Given the description of an element on the screen output the (x, y) to click on. 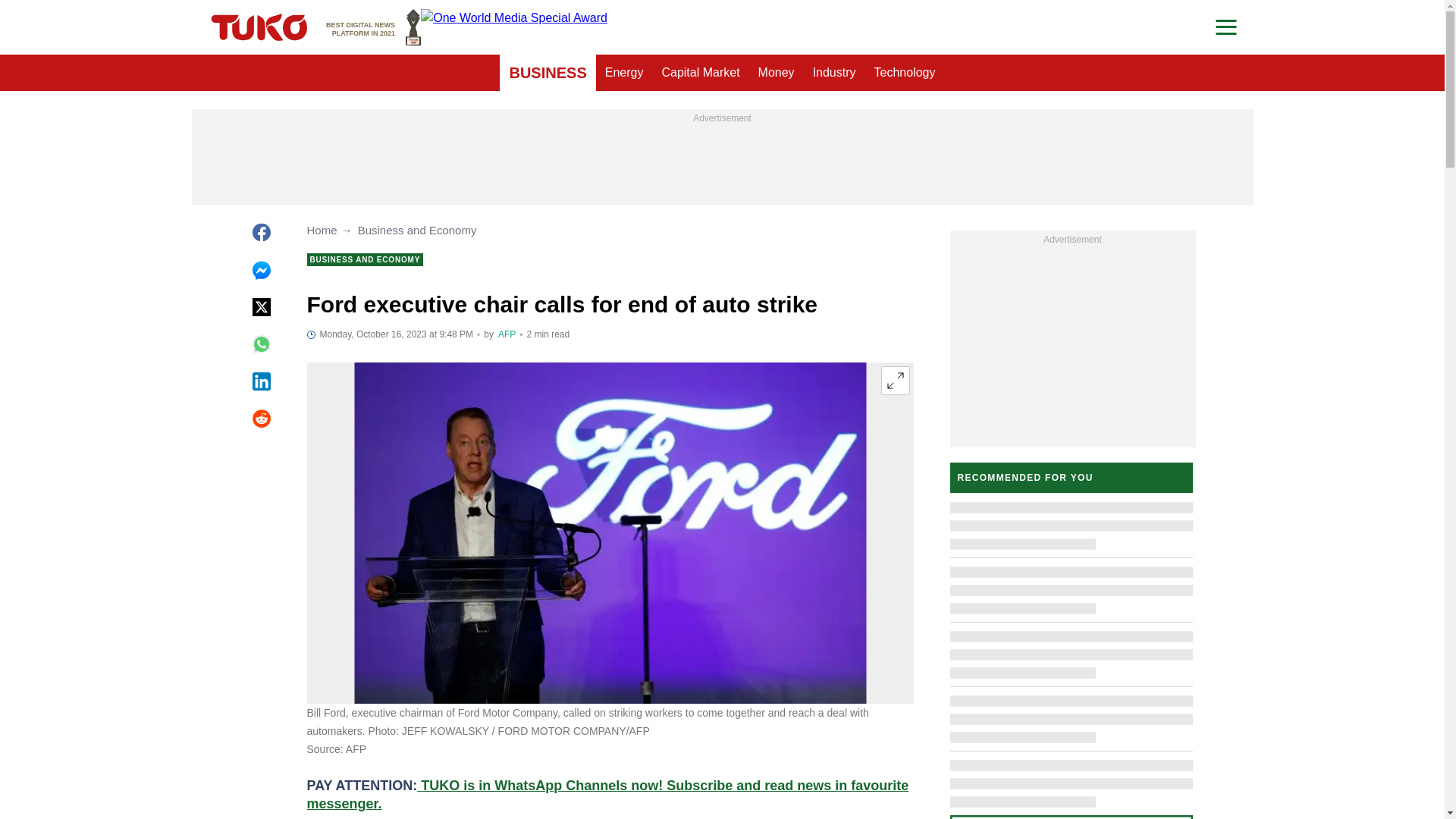
Money (776, 72)
Energy (623, 72)
Author page (506, 334)
Capital Market (700, 72)
Expand image (895, 380)
BUSINESS (547, 72)
Technology (904, 72)
Industry (373, 27)
